Given the description of an element on the screen output the (x, y) to click on. 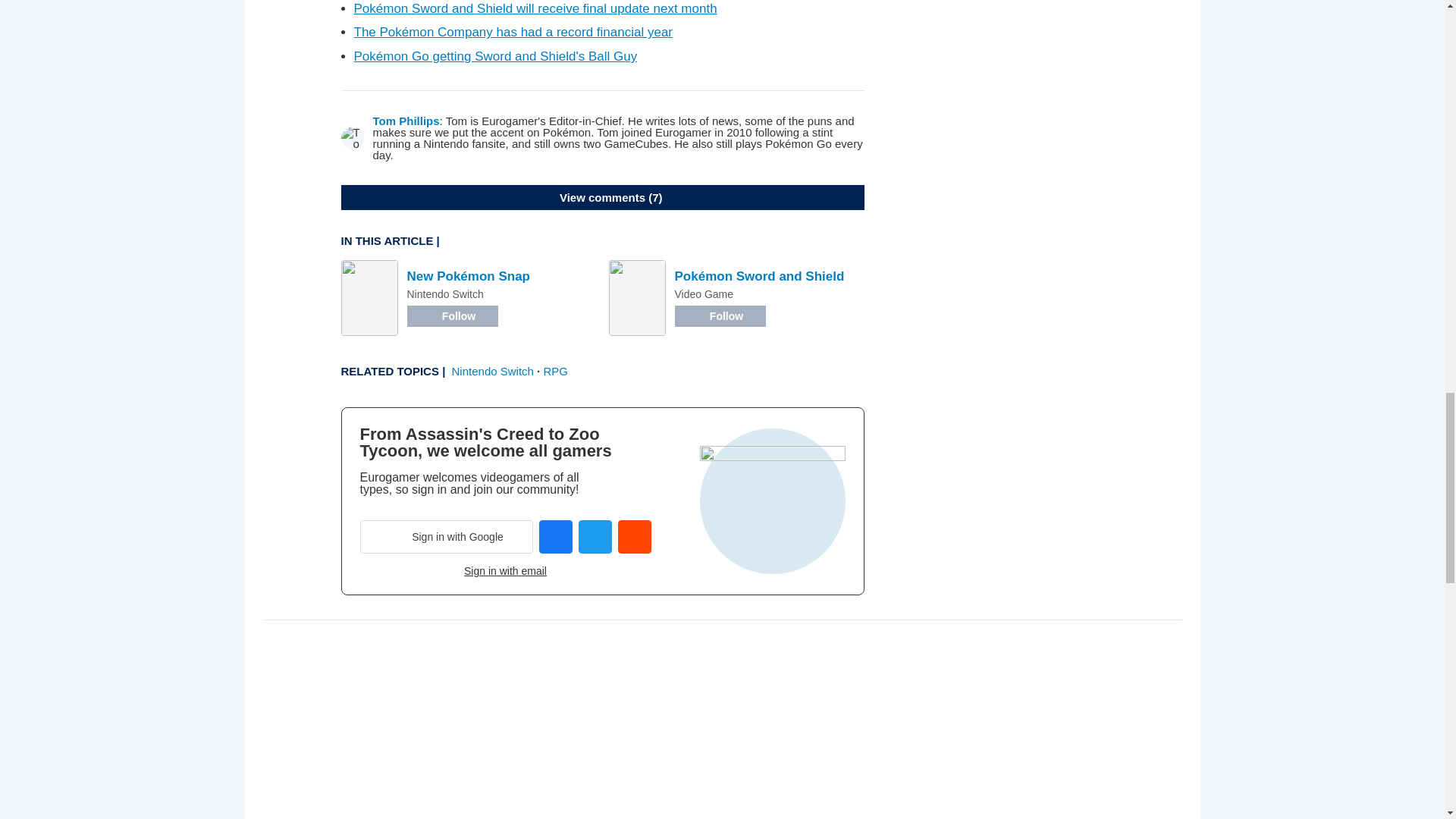
Follow (451, 315)
Tom Phillips (405, 120)
